Given the description of an element on the screen output the (x, y) to click on. 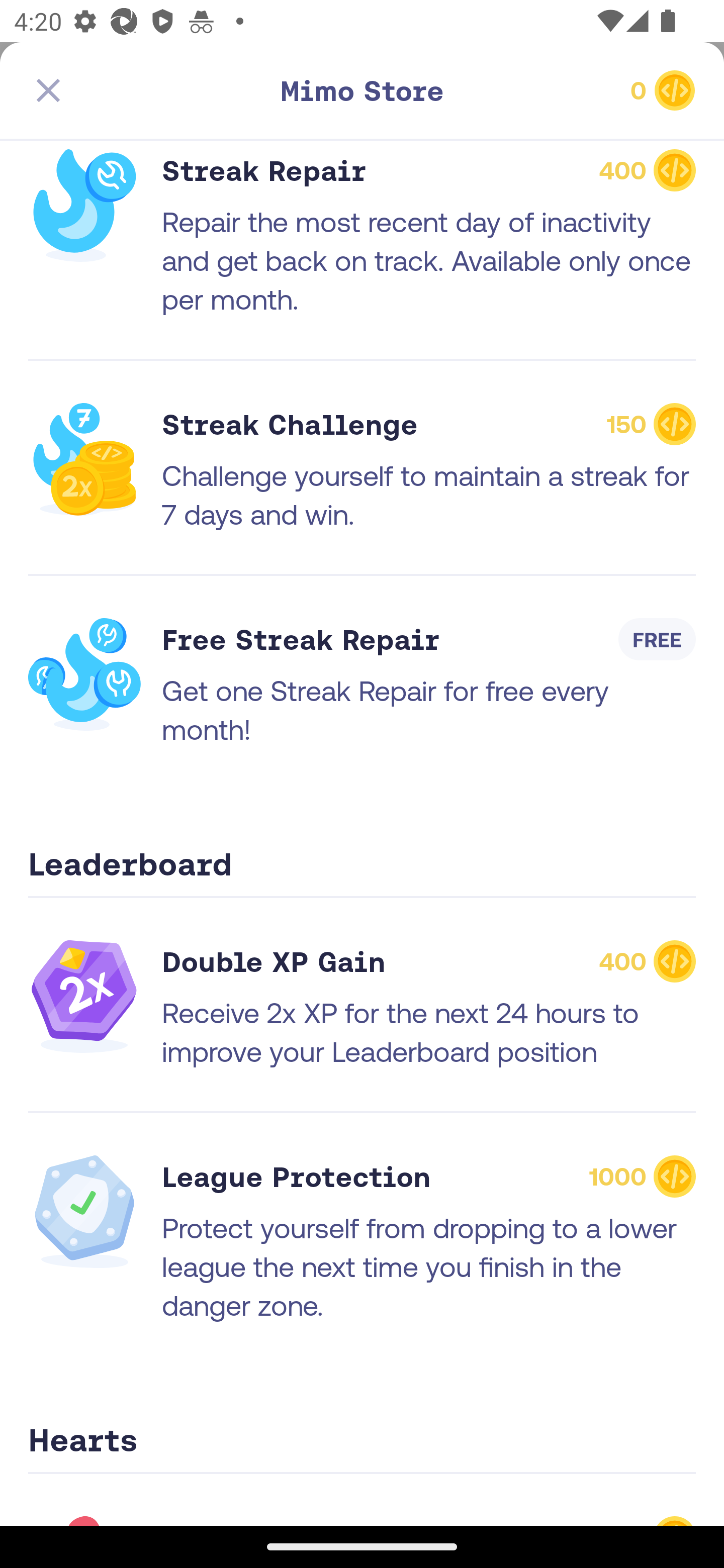
Close (47, 77)
Path Toolbar Image 0 (361, 90)
Path Toolbar Image 0 (588, 90)
